Given the description of an element on the screen output the (x, y) to click on. 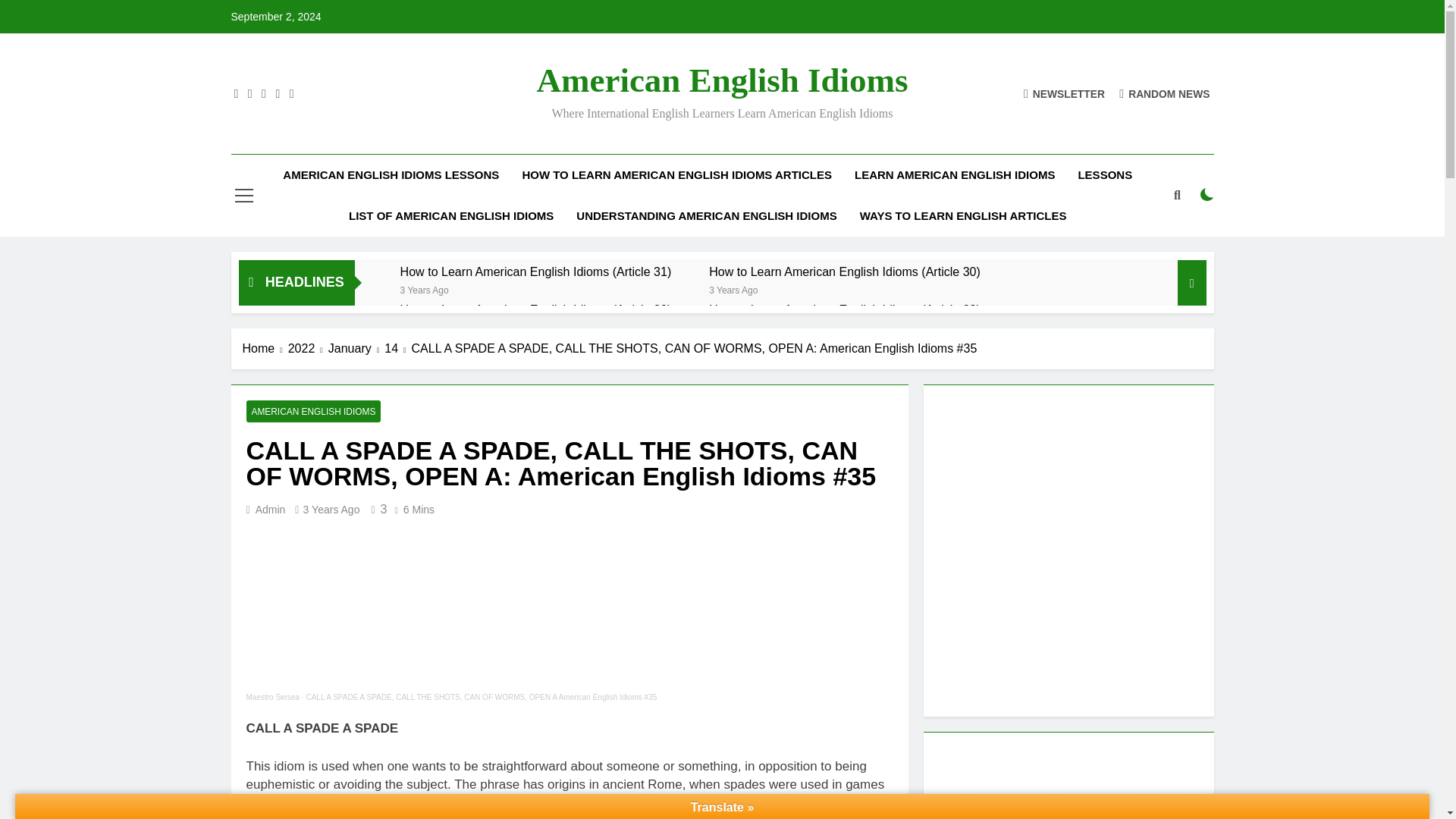
2022 (308, 348)
on (1206, 194)
January (356, 348)
LIST OF AMERICAN ENGLISH IDIOMS (450, 215)
3 Years Ago (424, 288)
American English Idioms (721, 80)
WAYS TO LEARN ENGLISH ARTICLES (963, 215)
LESSONS (1103, 174)
RANDOM NEWS (1164, 92)
AMERICAN ENGLISH IDIOMS LESSONS (390, 174)
